Given the description of an element on the screen output the (x, y) to click on. 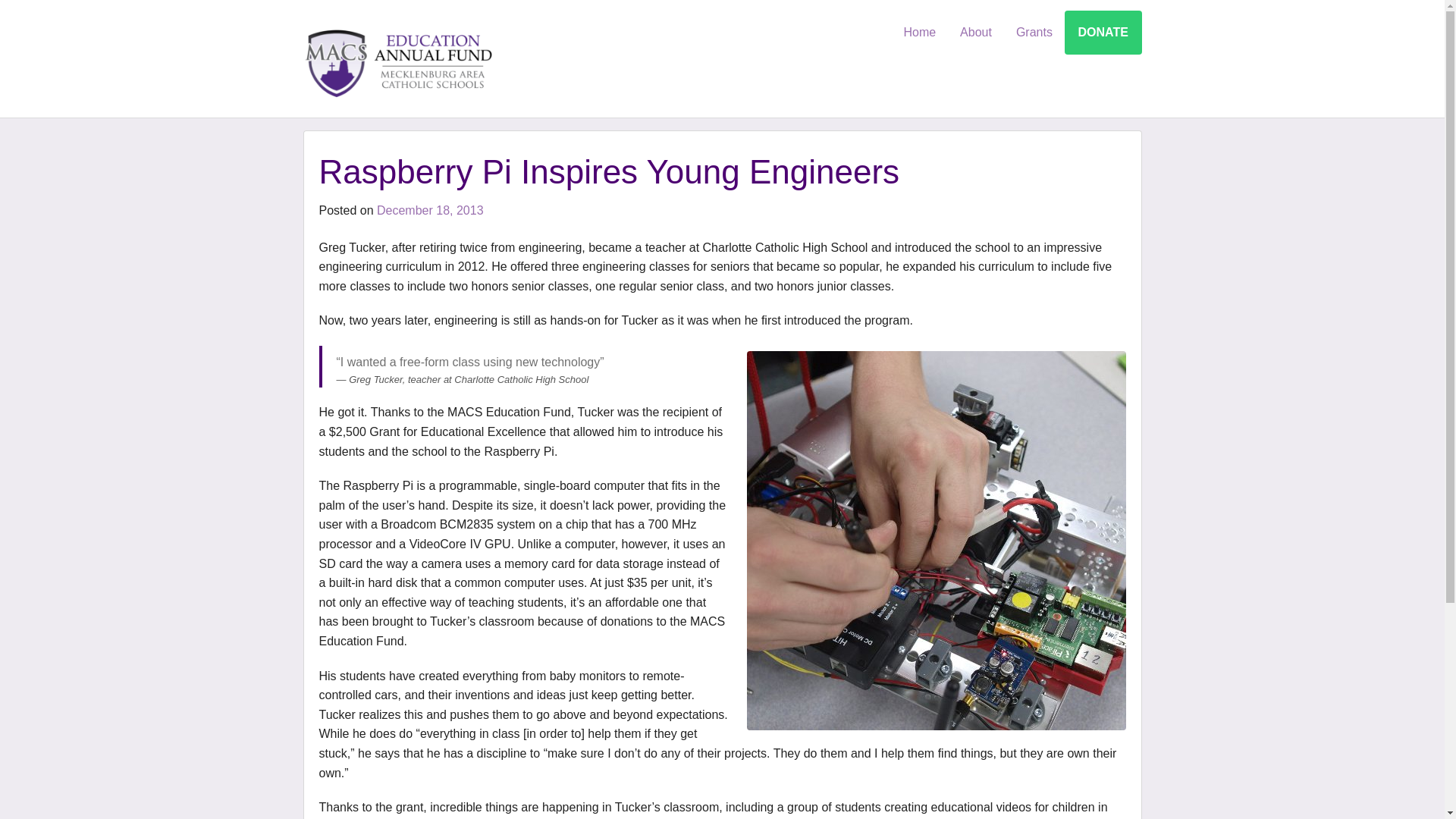
About (975, 32)
Skip to content (528, 21)
MACS Education Fund (399, 59)
Home (919, 32)
December 18, 2013 (430, 210)
DONATE (1102, 32)
Grants (1034, 32)
